Given the description of an element on the screen output the (x, y) to click on. 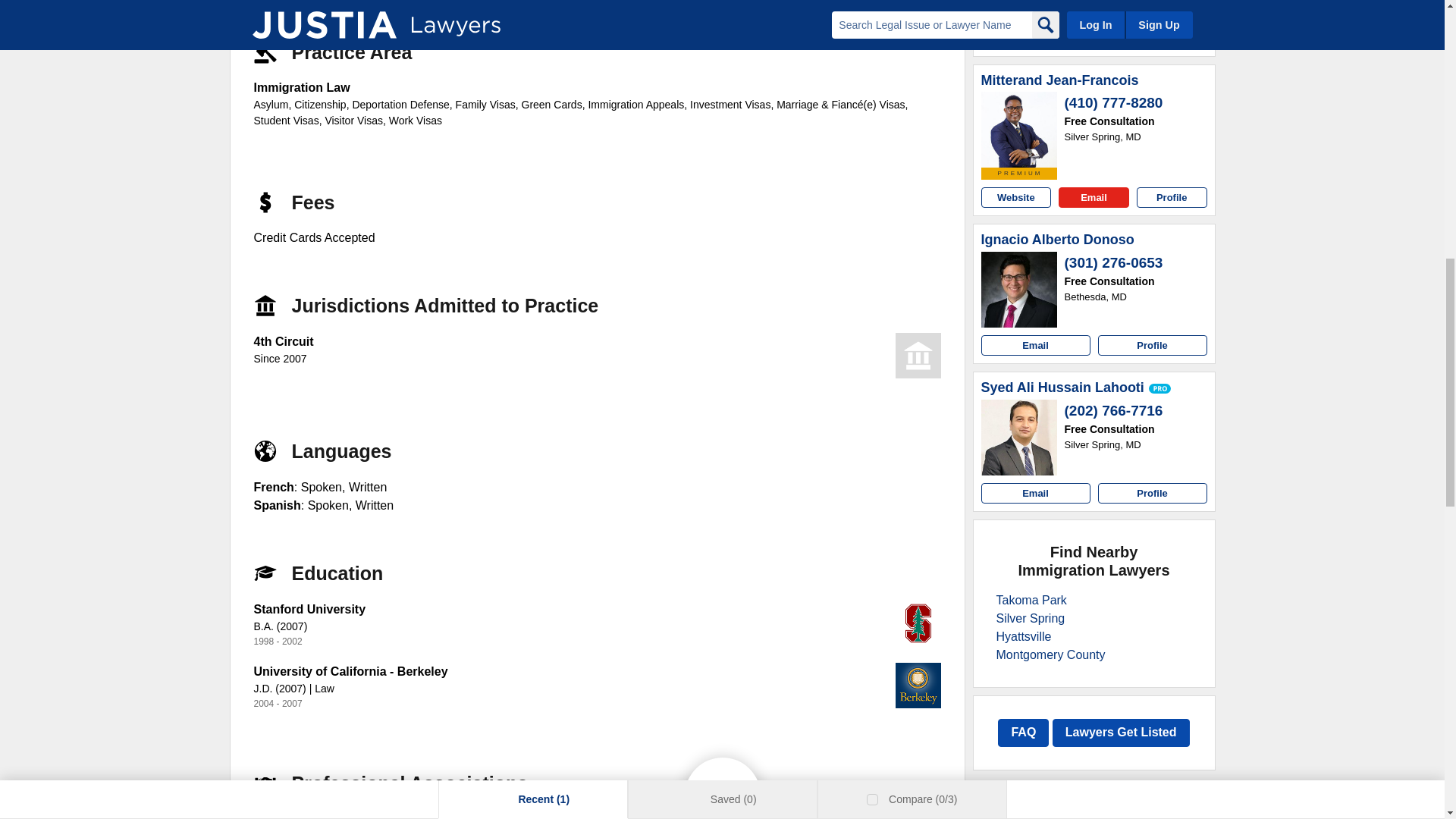
Afshin Pishevar (1019, 4)
Syed Ali Hussain Lahooti (1062, 388)
Mitterand Jean-Francois (1019, 129)
Mitterand Jean-Francois (1059, 80)
Ignacio Alberto Donoso (1019, 289)
Ignacio Alberto Donoso (1057, 239)
